Given the description of an element on the screen output the (x, y) to click on. 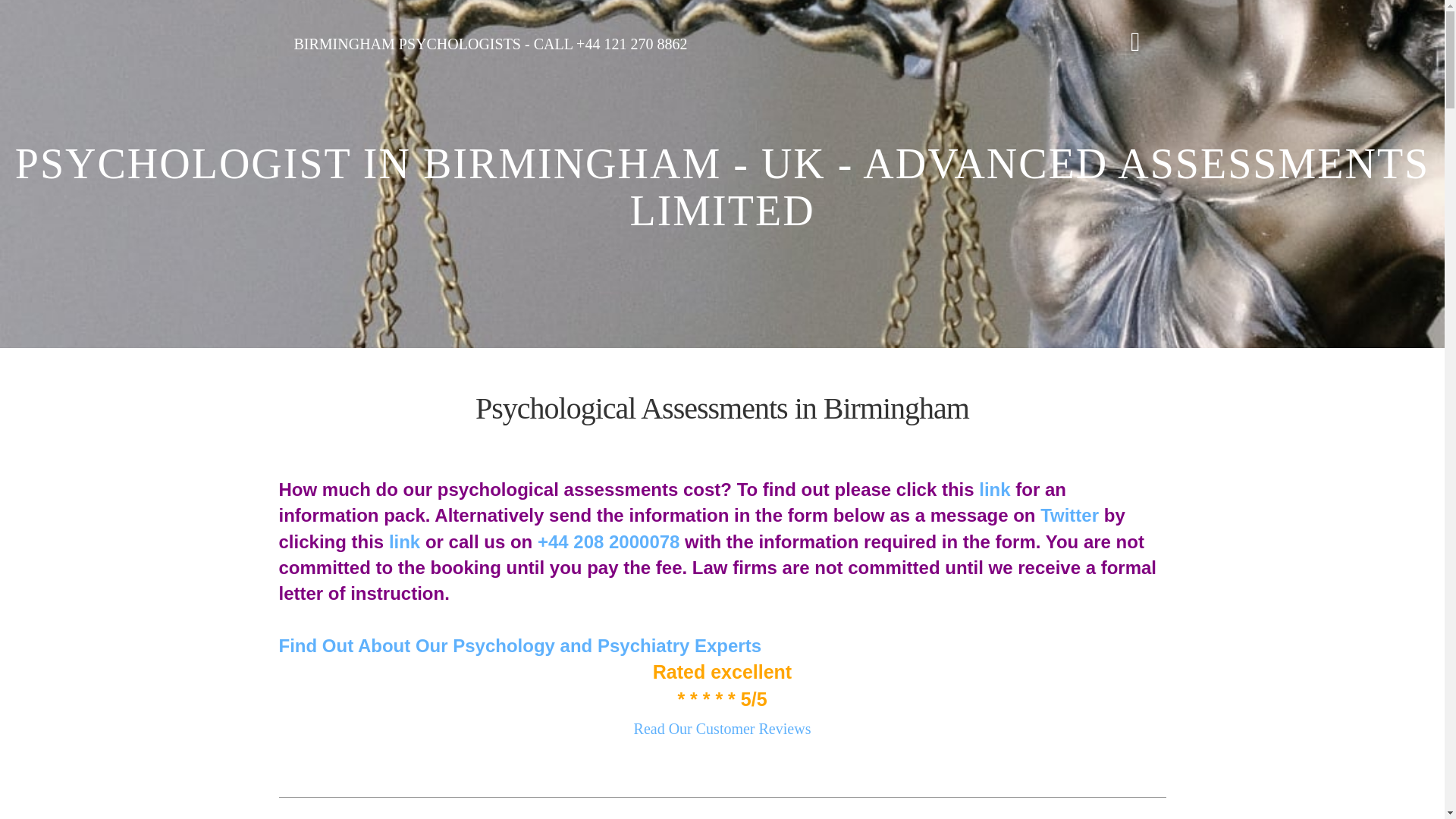
Advanced Assessments - Twitter (404, 541)
Advanced Assessmetns - Twitter Account (1070, 515)
Booking Form (994, 489)
Reviews (721, 728)
